Given the description of an element on the screen output the (x, y) to click on. 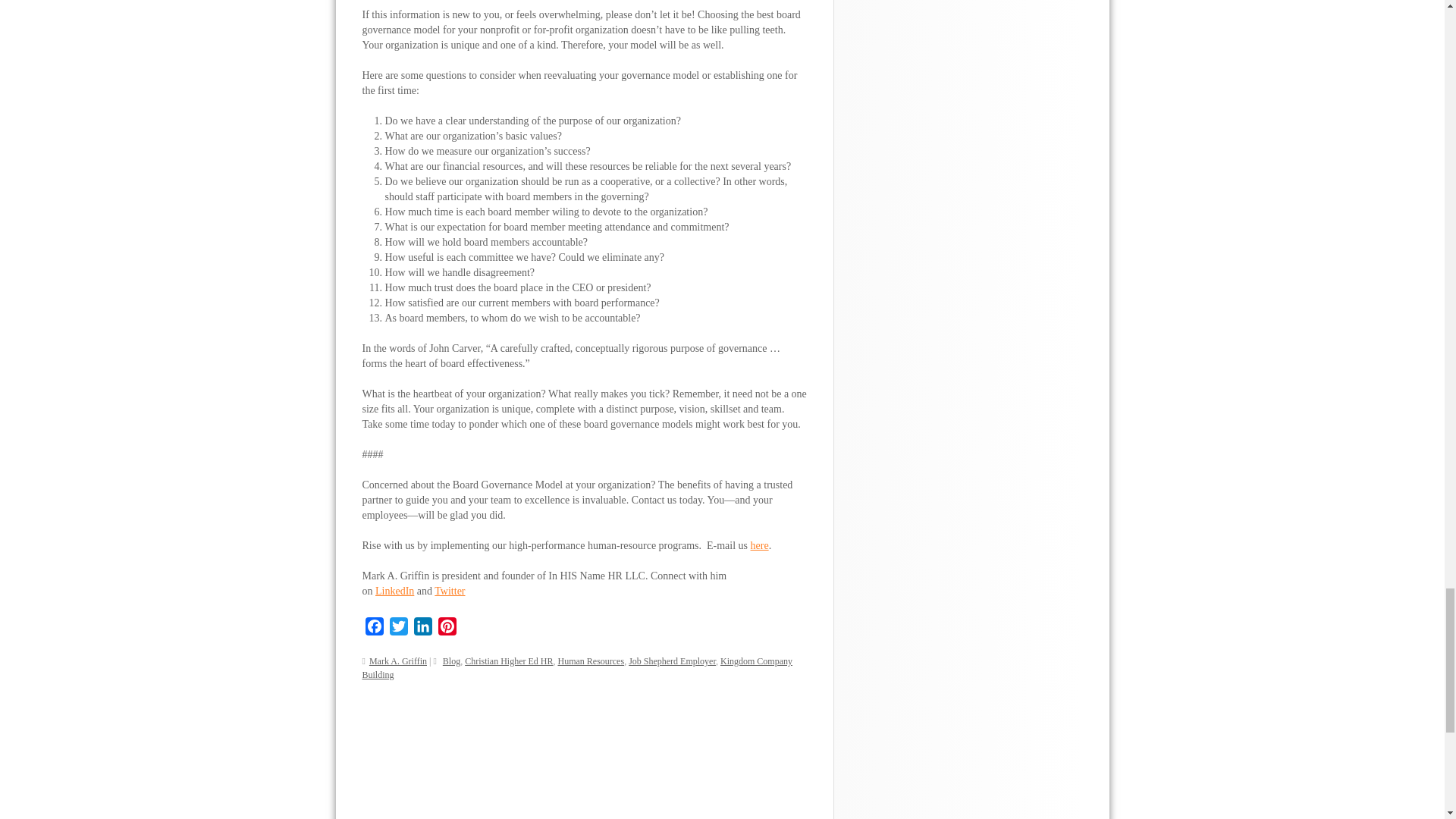
Mark A. Griffin (397, 661)
LinkedIn (422, 627)
Facebook (374, 627)
Twitter (398, 627)
Pinterest (447, 627)
